Given the description of an element on the screen output the (x, y) to click on. 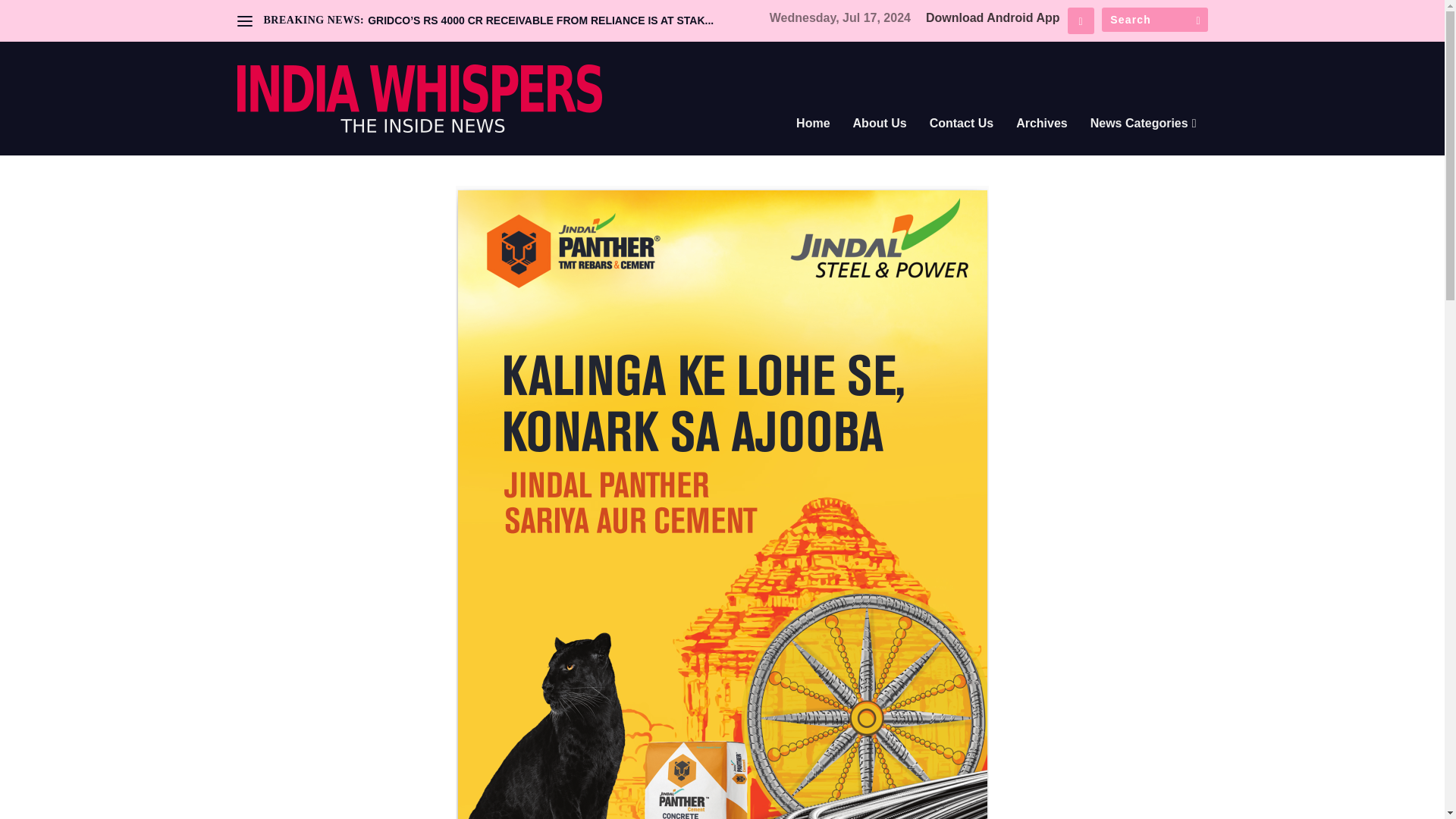
Search for: (1153, 19)
About Us (880, 143)
News Categories (1143, 143)
Download Android App (992, 17)
Archives (1041, 143)
Contact Us (961, 143)
